Given the description of an element on the screen output the (x, y) to click on. 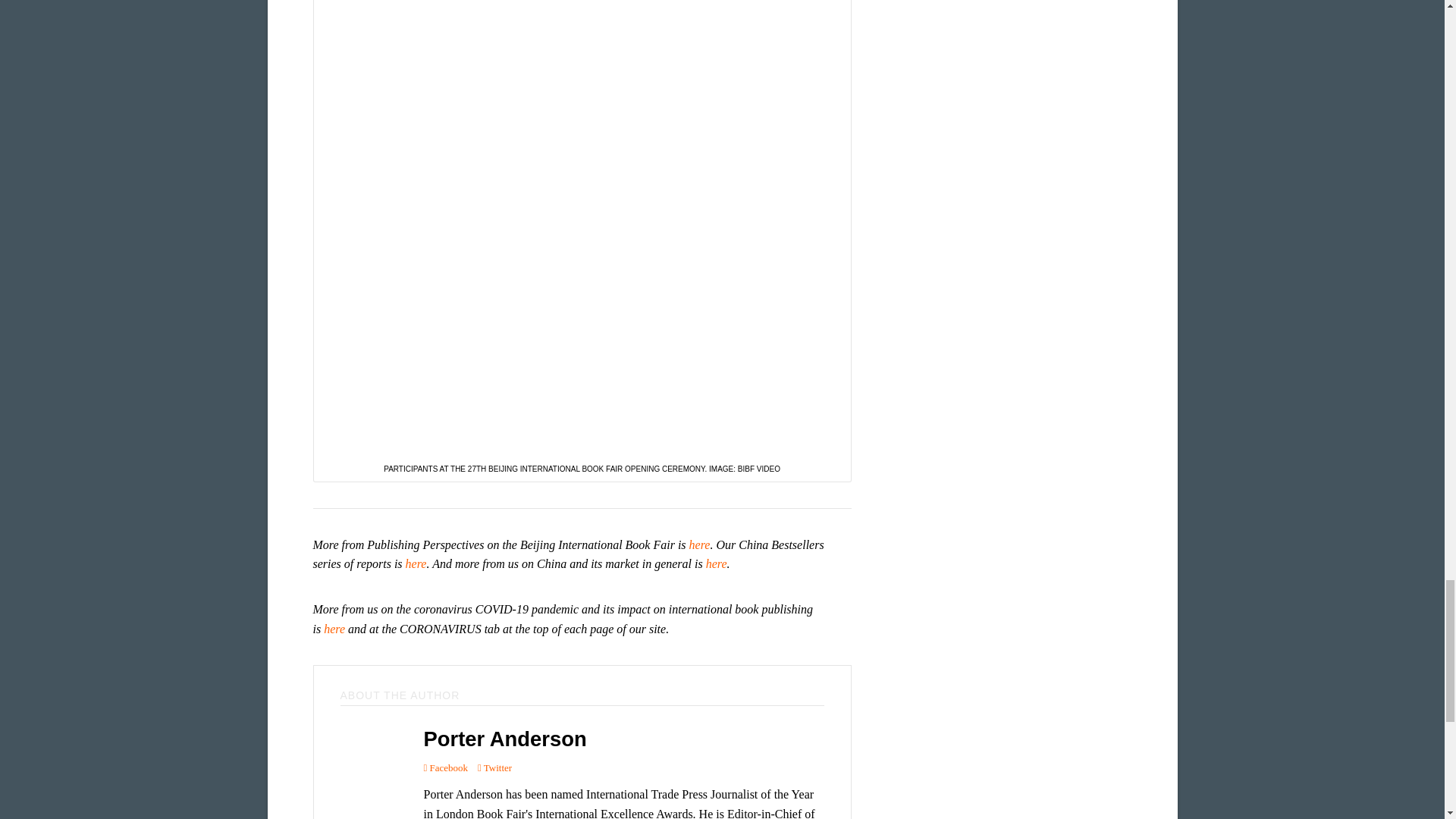
here (416, 563)
here (716, 563)
Visit the Twitter Profile for Porter Anderson (494, 767)
Visit the Facebook Profile for Porter Anderson (445, 767)
here (699, 544)
